Given the description of an element on the screen output the (x, y) to click on. 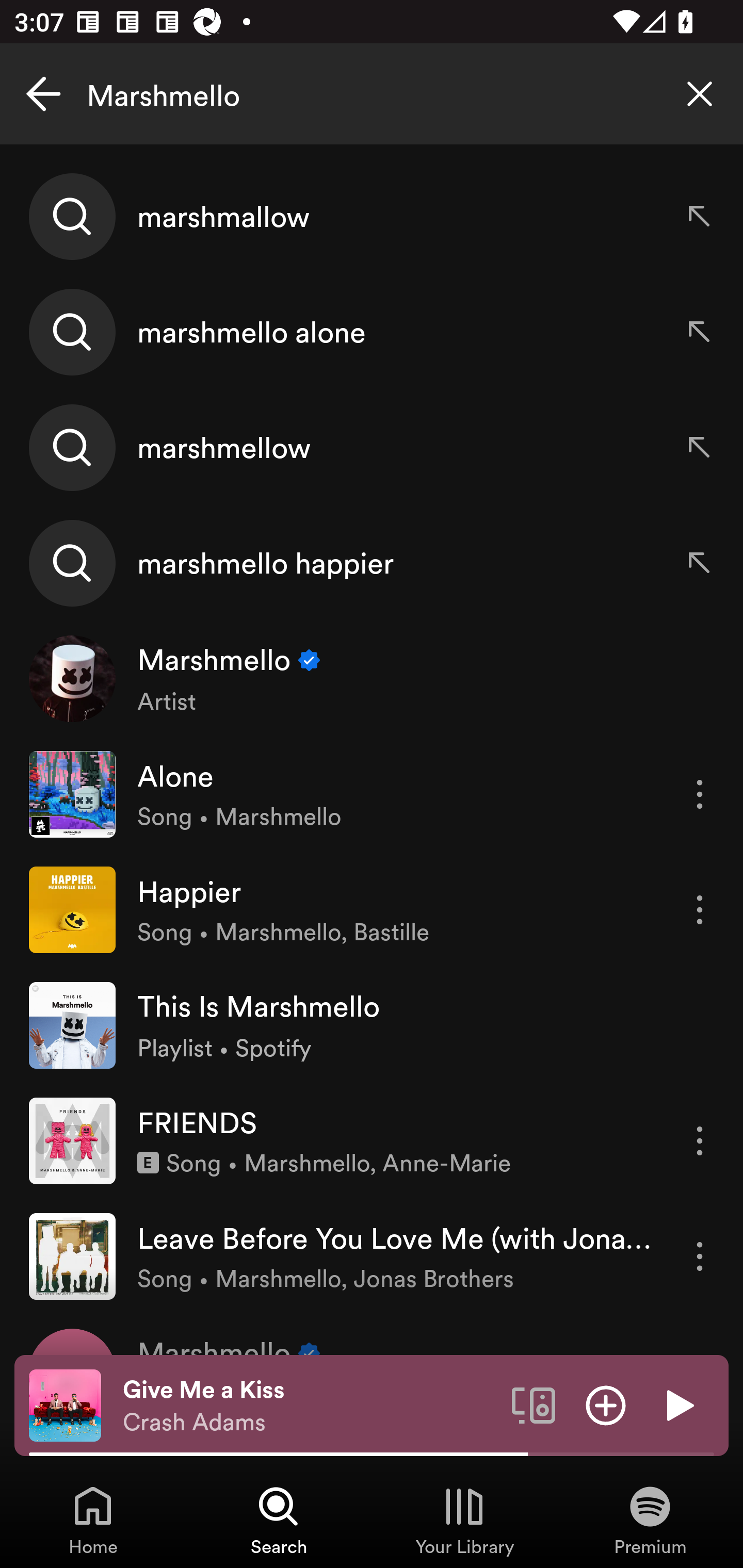
Marshmello (371, 93)
Cancel (43, 93)
Clear search query (699, 93)
marshmallow (371, 216)
marshmello alone (371, 332)
marshmellow (371, 447)
marshmello happier (371, 562)
Marshmello Verified Artist (371, 678)
More options for song Alone (699, 794)
More options for song Happier (699, 910)
This Is Marshmello Playlist • Spotify (371, 1025)
More options for song FRIENDS (699, 1140)
Give Me a Kiss Crash Adams (309, 1405)
The cover art of the currently playing track (64, 1404)
Connect to a device. Opens the devices menu (533, 1404)
Add item (605, 1404)
Play (677, 1404)
Home, Tab 1 of 4 Home Home (92, 1519)
Search, Tab 2 of 4 Search Search (278, 1519)
Your Library, Tab 3 of 4 Your Library Your Library (464, 1519)
Premium, Tab 4 of 4 Premium Premium (650, 1519)
